Given the description of an element on the screen output the (x, y) to click on. 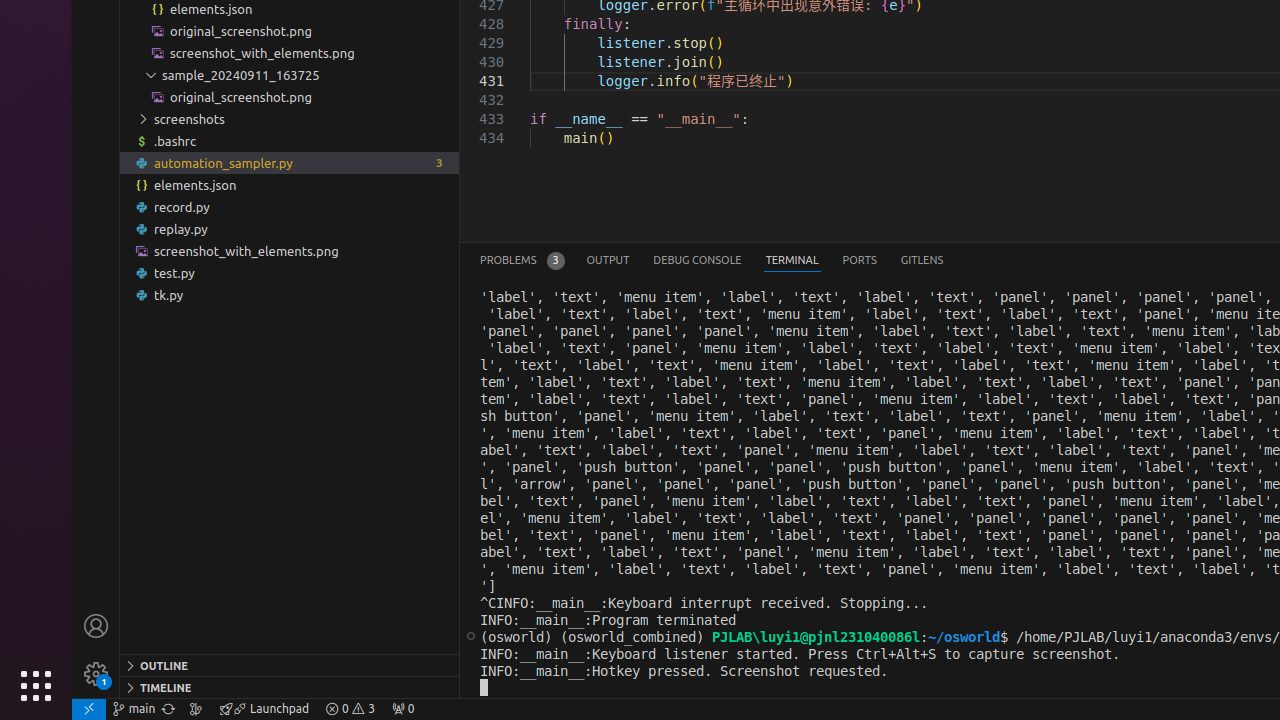
GitLens Element type: page-tab (922, 260)
Warnings: 3 Element type: push-button (350, 709)
Debug Console (Ctrl+Shift+Y) Element type: page-tab (697, 260)
rocket gitlens-unplug Launchpad, GitLens Launchpad ᴘʀᴇᴠɪᴇᴡ    &mdash;    [$(question)](command:gitlens.launchpad.indicator.action?%22info%22 "What is this?") [$(gear)](command:workbench.action.openSettings?%22gitlens.launchpad%22 "Settings")  |  [$(circle-slash) Hide](command:gitlens.launchpad.indicator.action?%22hide%22 "Hide") --- [Launchpad](command:gitlens.launchpad.indicator.action?%info%22 "Learn about Launchpad") organizes your pull requests into actionable groups to help you focus and keep your team unblocked. It's always accessible using the `GitLens: Open Launchpad` command from the Command Palette. --- [Connect an integration](command:gitlens.showLaunchpad?%7B%22source%22%3A%22launchpad-indicator%22%7D "Connect an integration") to get started. Element type: push-button (264, 709)
automation_sampler.py Element type: tree-item (289, 163)
